Given the description of an element on the screen output the (x, y) to click on. 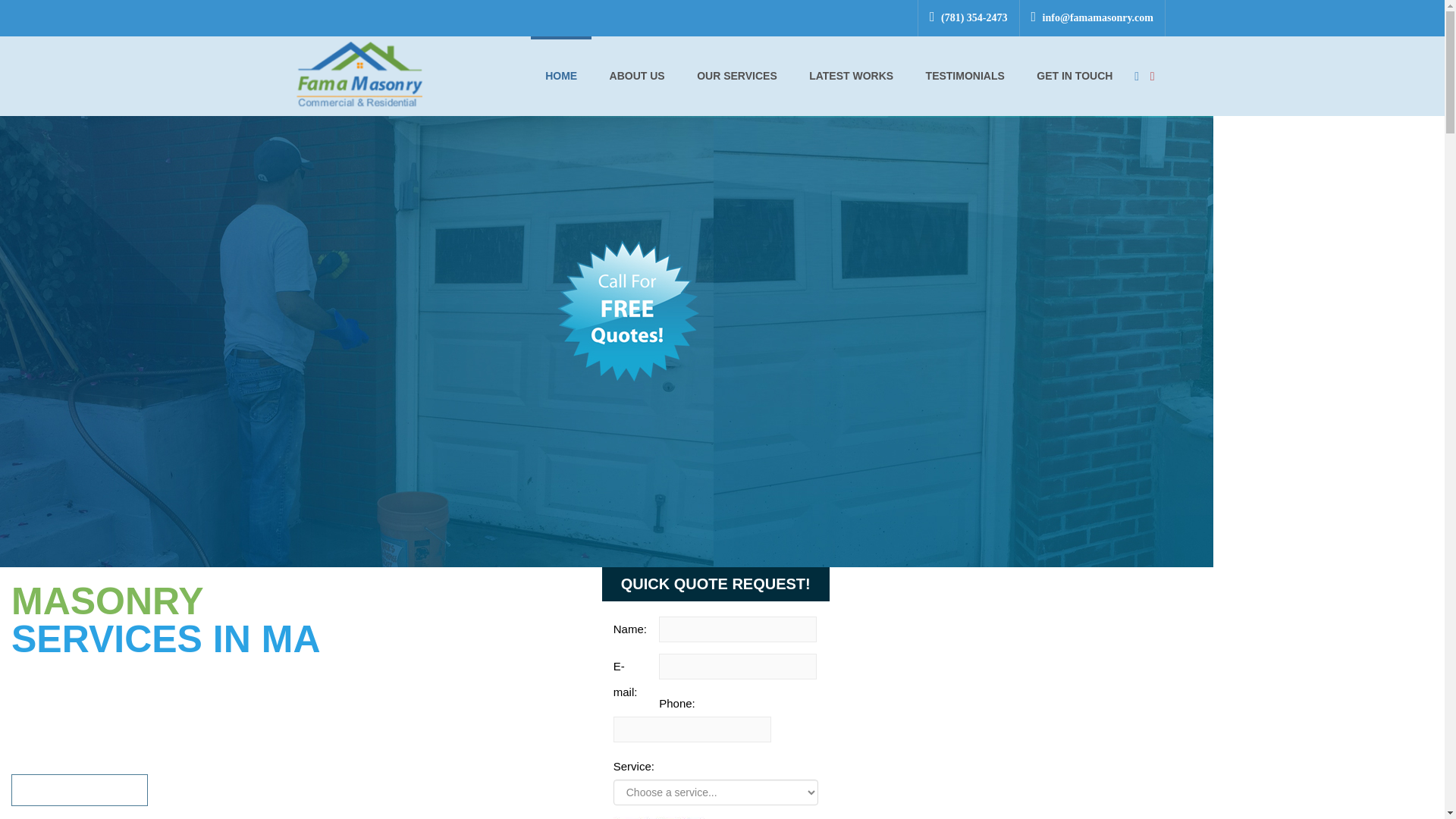
LEARN MORE (79, 789)
OUR SERVICES (737, 76)
TESTIMONIALS (965, 76)
GET IN TOUCH (1074, 76)
LATEST WORKS (850, 76)
ABOUT US (637, 76)
